Given the description of an element on the screen output the (x, y) to click on. 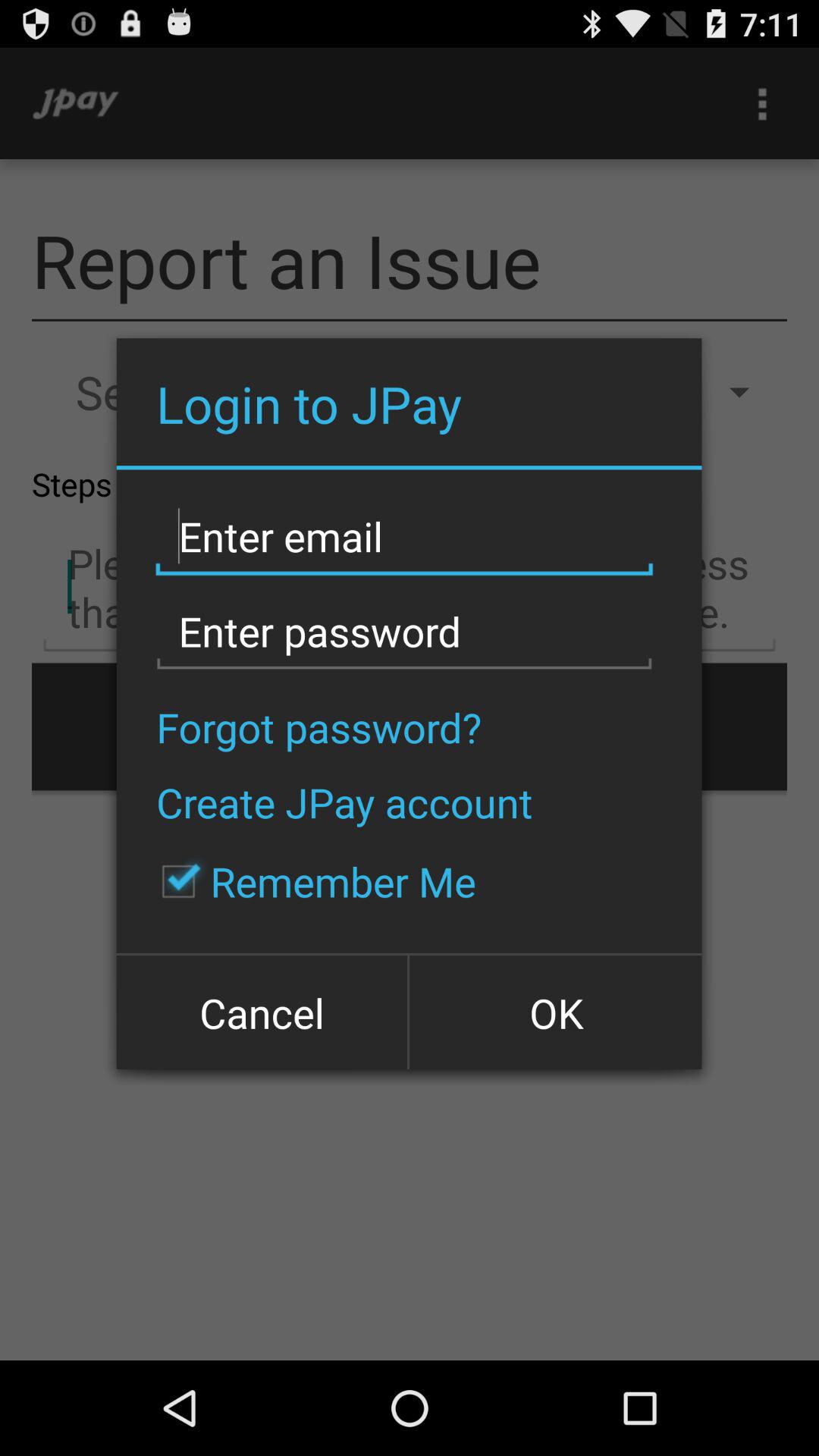
select cancel item (263, 1011)
